Given the description of an element on the screen output the (x, y) to click on. 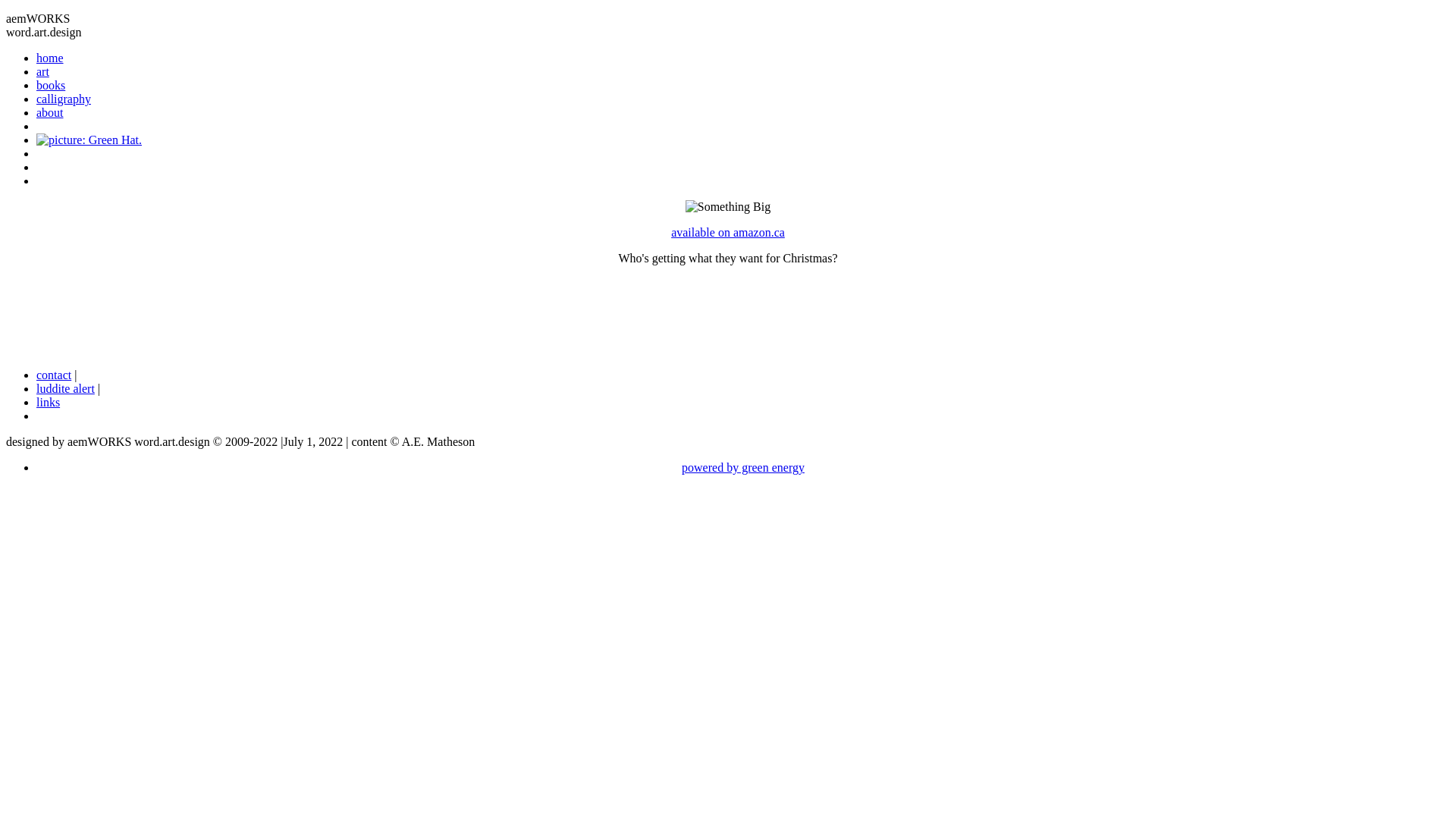
books Element type: text (50, 84)
contact Element type: text (53, 374)
about Element type: text (49, 112)
powered by green energy Element type: text (742, 467)
links Element type: text (47, 401)
luddite alert Element type: text (65, 388)
art Element type: text (42, 71)
home Element type: text (49, 57)
calligraphy Element type: text (63, 98)
available on amazon.ca Element type: text (727, 231)
